Given the description of an element on the screen output the (x, y) to click on. 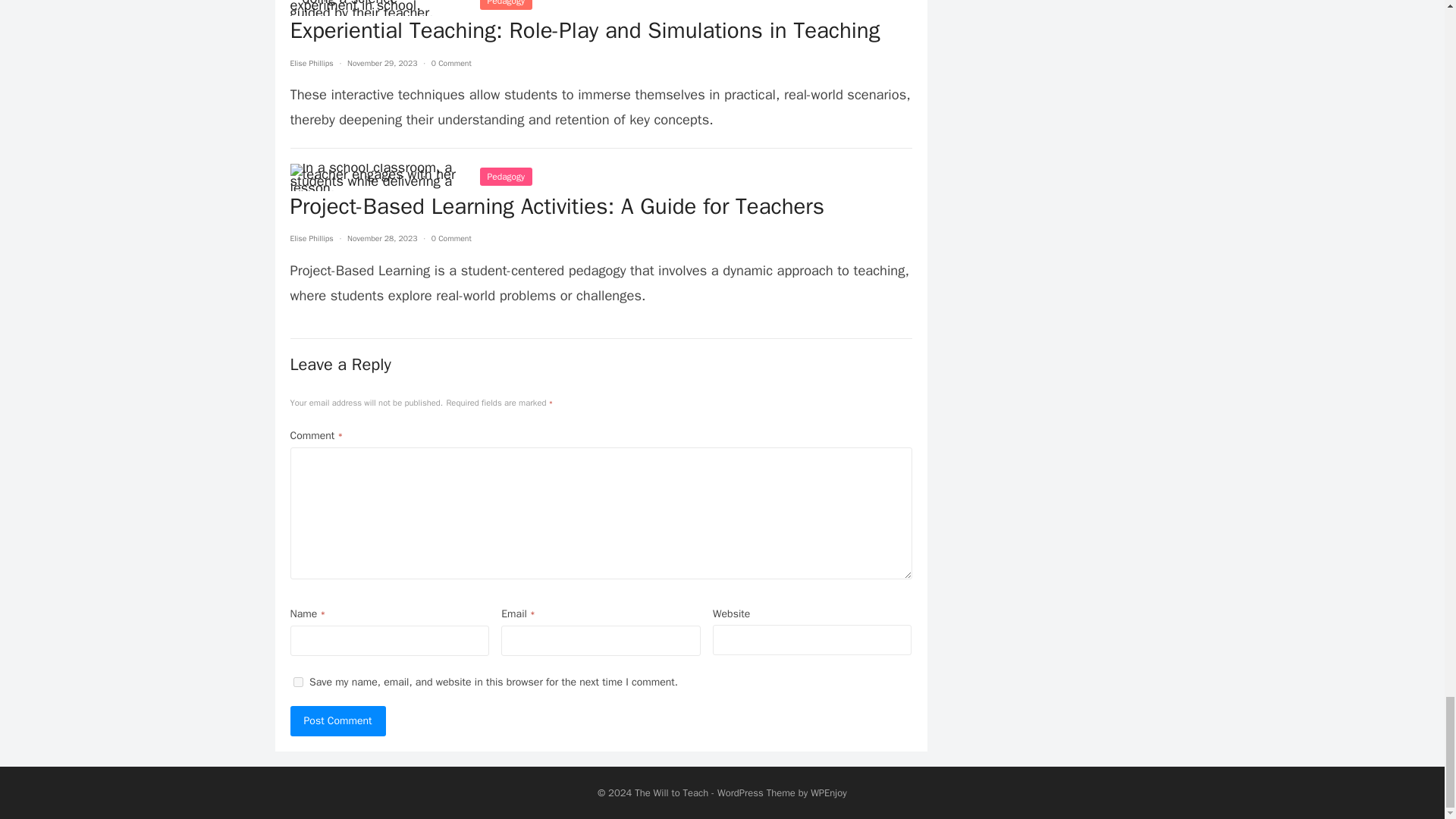
Posts by Elise Phillips (311, 62)
Post Comment (337, 720)
yes (297, 682)
Posts by Elise Phillips (311, 238)
